Given the description of an element on the screen output the (x, y) to click on. 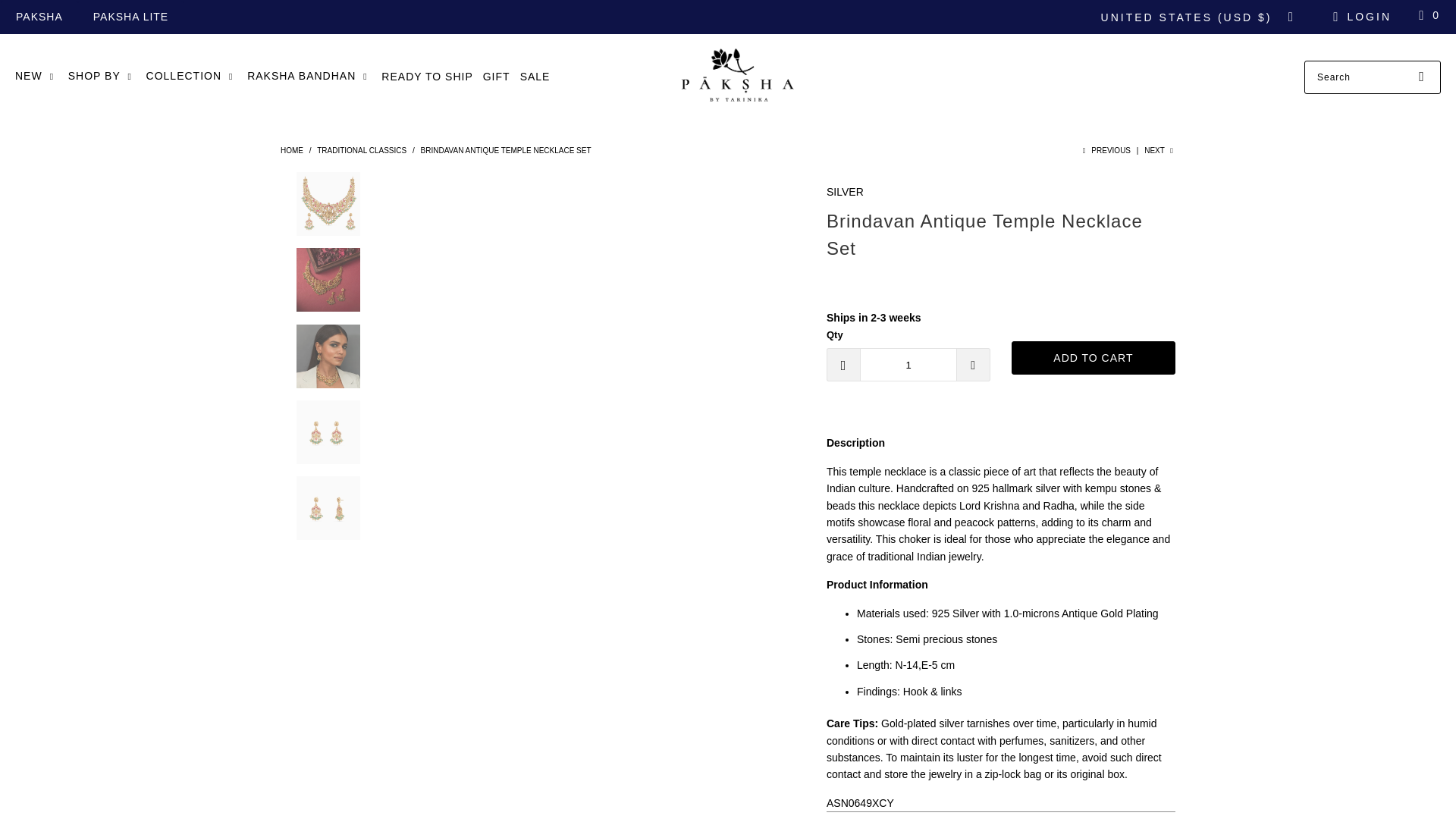
Traditional Classics (361, 150)
1 (908, 364)
Paksha (291, 150)
My Account  (1359, 16)
Next (1159, 150)
Previous (1104, 150)
Paksha (734, 77)
